Given the description of an element on the screen output the (x, y) to click on. 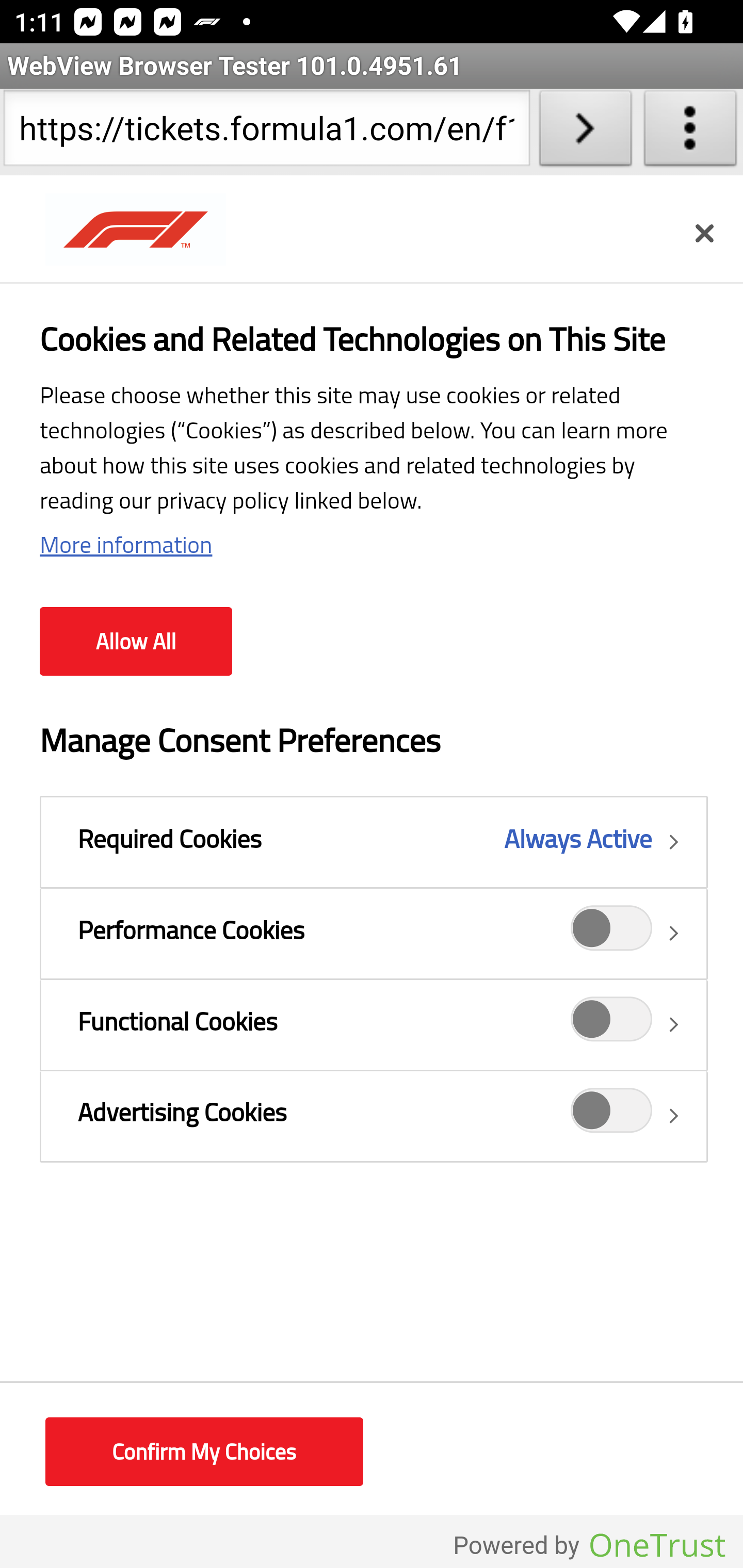
Load URL (585, 132)
About WebView (690, 132)
Close (703, 233)
Next slide Previous slide (371, 505)
Allow All (135, 641)
Required Cookies (373, 841)
Performance Cookies (373, 932)
Performance Cookies (611, 933)
Functional Cookies (373, 1024)
Functional Cookies (611, 1024)
Advertising Cookies (373, 1115)
Advertising Cookies (611, 1115)
Confirm My Choices (203, 1452)
Powered by OneTrust Opens in a new Tab (589, 1545)
